Given the description of an element on the screen output the (x, y) to click on. 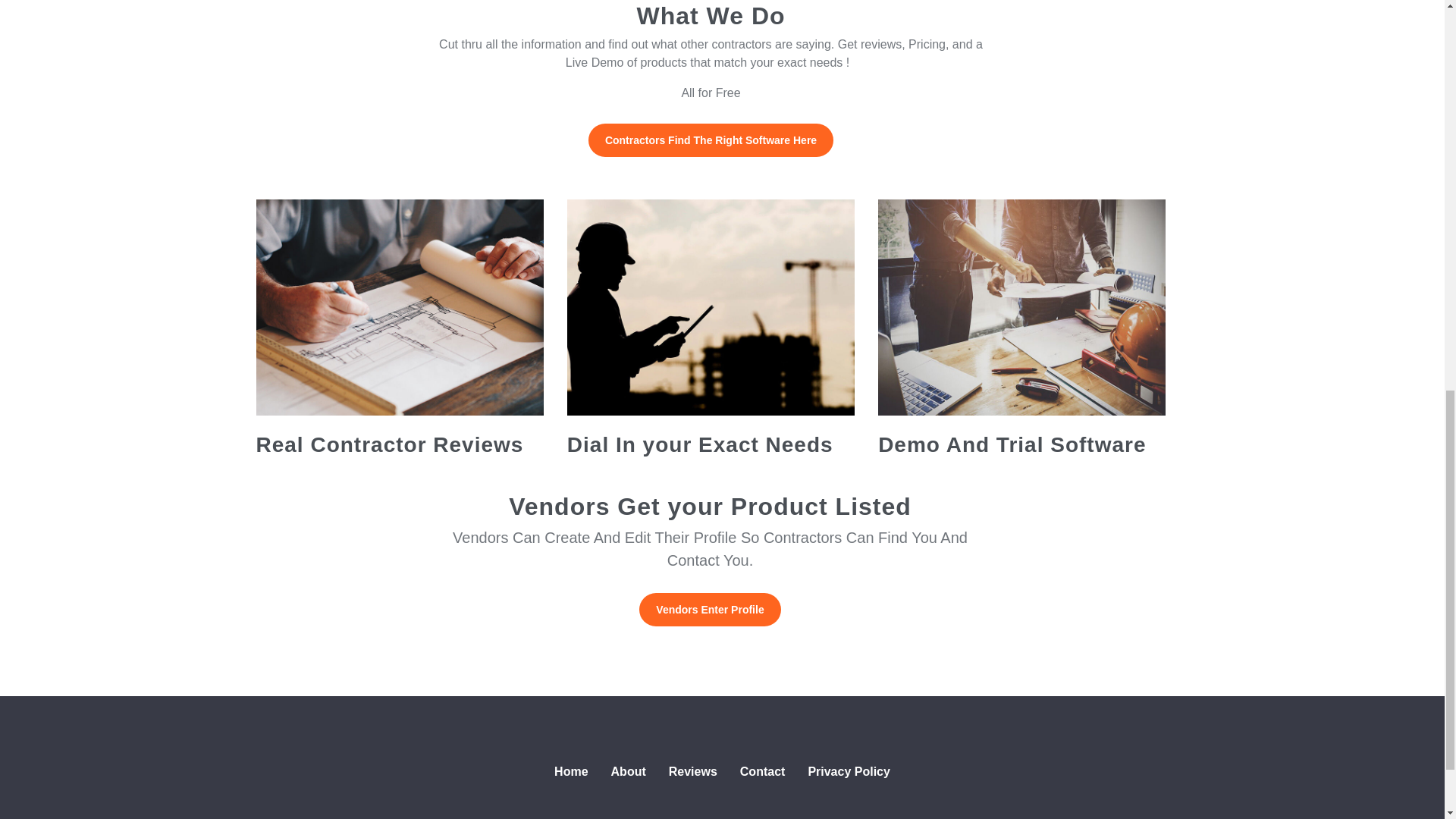
Reviews (693, 771)
Contractors Find The Right Software Here (710, 140)
Vendors Enter Profile (709, 609)
Home (570, 771)
About (628, 771)
Contact (762, 771)
Privacy Policy (848, 771)
